Given the description of an element on the screen output the (x, y) to click on. 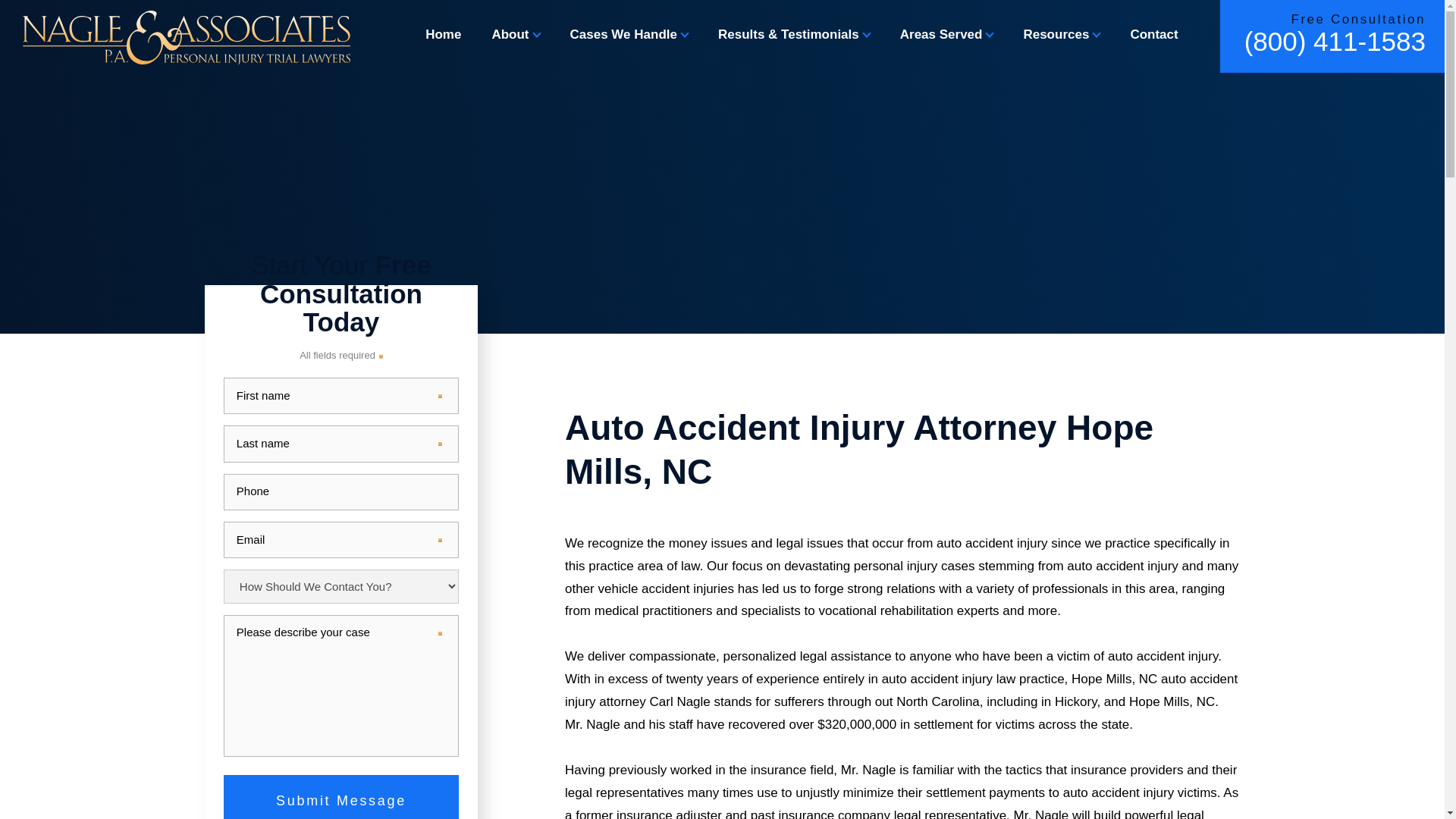
About (515, 34)
Home (443, 34)
Areas Served (945, 34)
Resources (1061, 34)
Cases We Handle (628, 34)
